Given the description of an element on the screen output the (x, y) to click on. 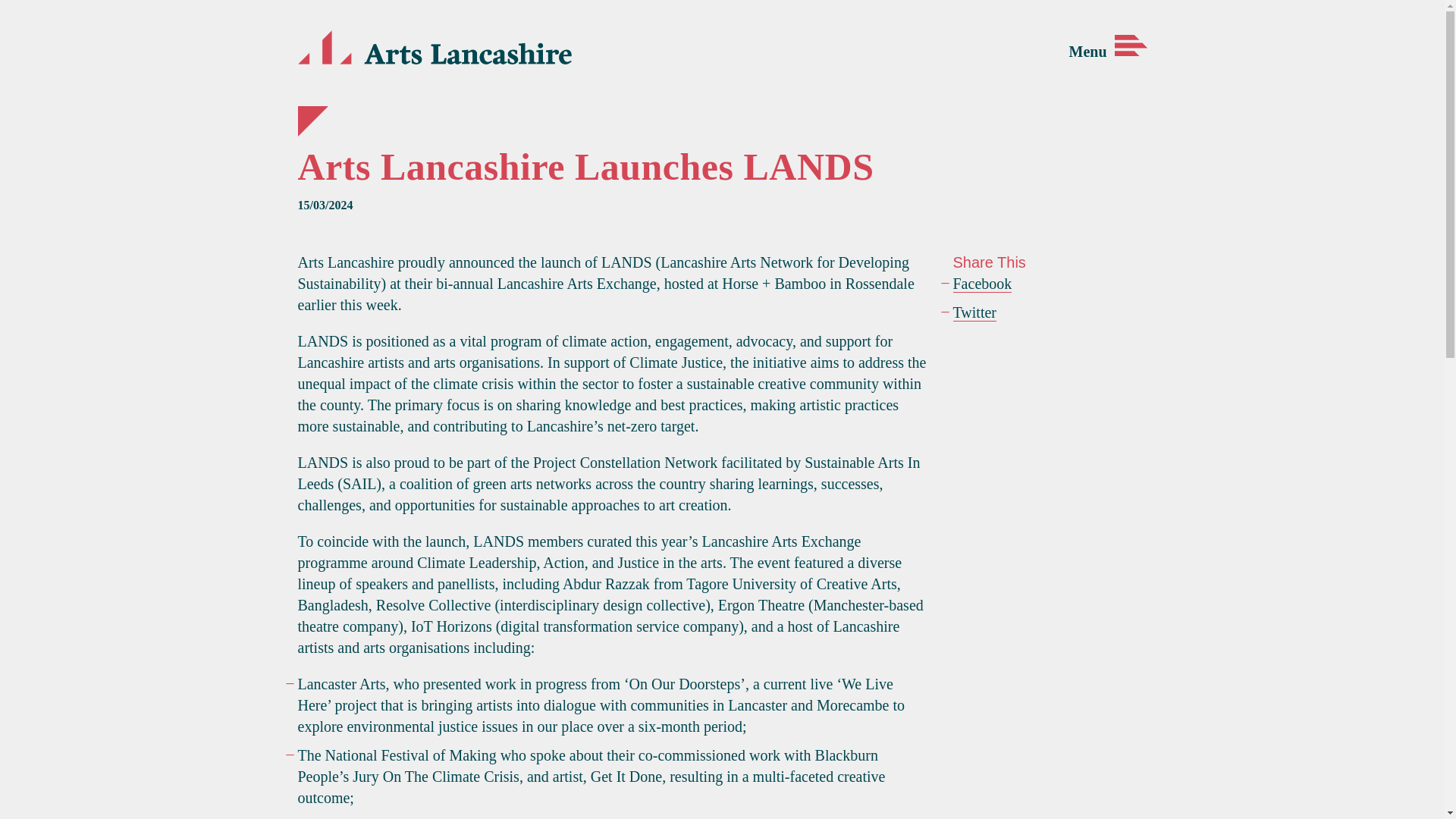
Twitter (973, 312)
Facebook (981, 283)
